Given the description of an element on the screen output the (x, y) to click on. 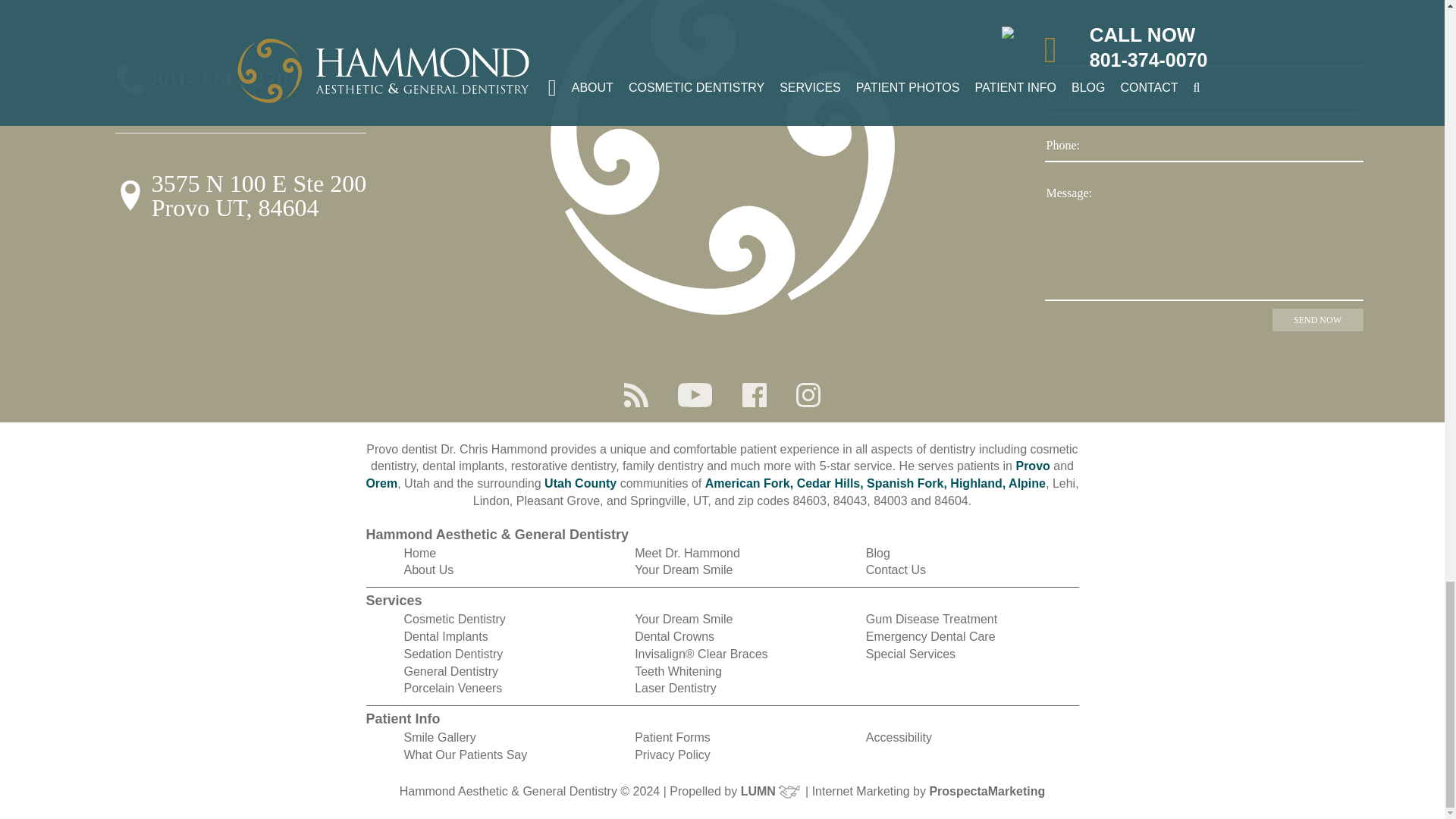
Send Now (1317, 319)
Internet Dental Marketing (986, 790)
